Given the description of an element on the screen output the (x, y) to click on. 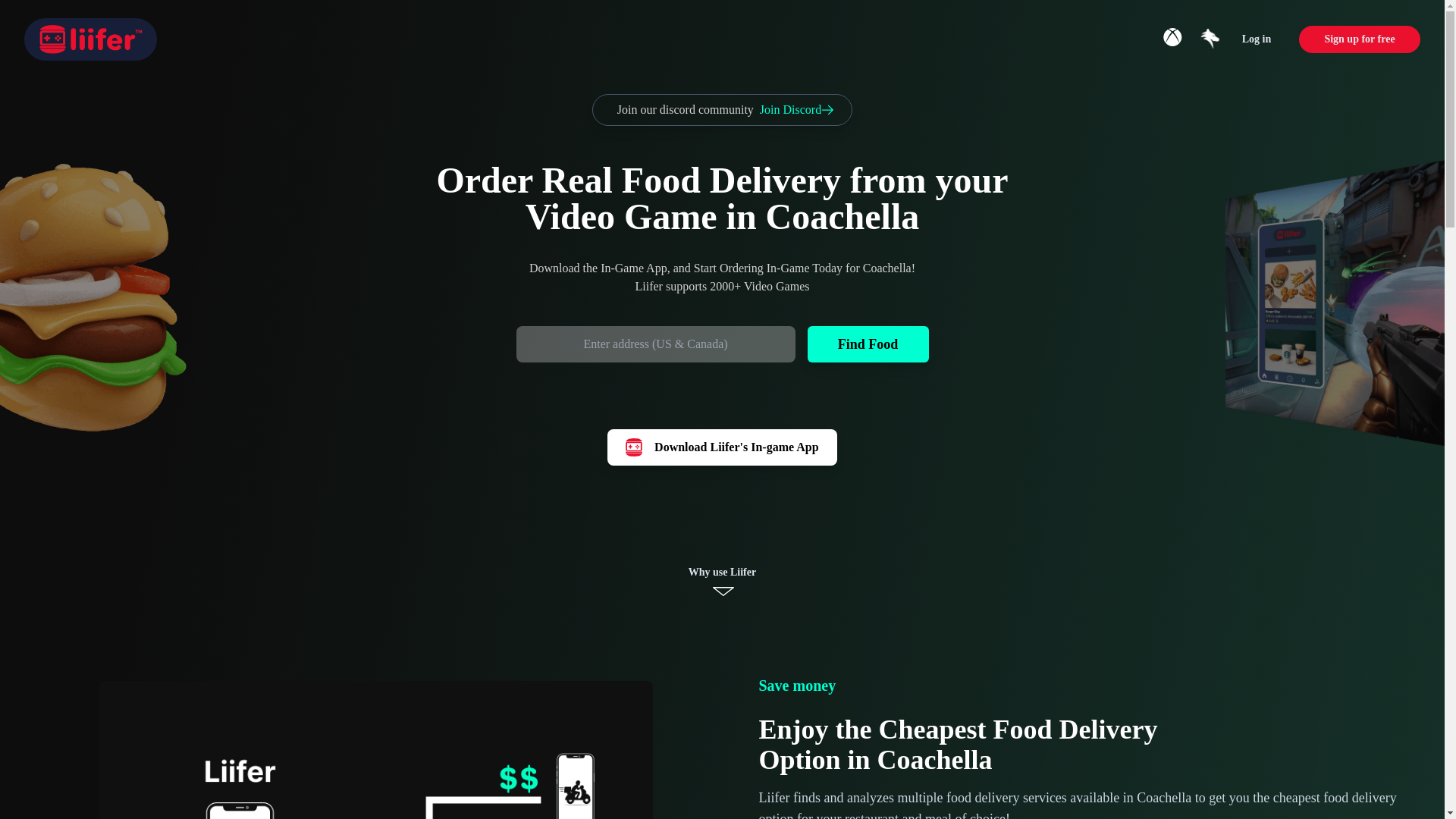
Find Food (867, 343)
Why use Liifer (721, 581)
Sign up for free (1359, 39)
Download Liifer's In-game App (721, 447)
Log in (1256, 39)
